Given the description of an element on the screen output the (x, y) to click on. 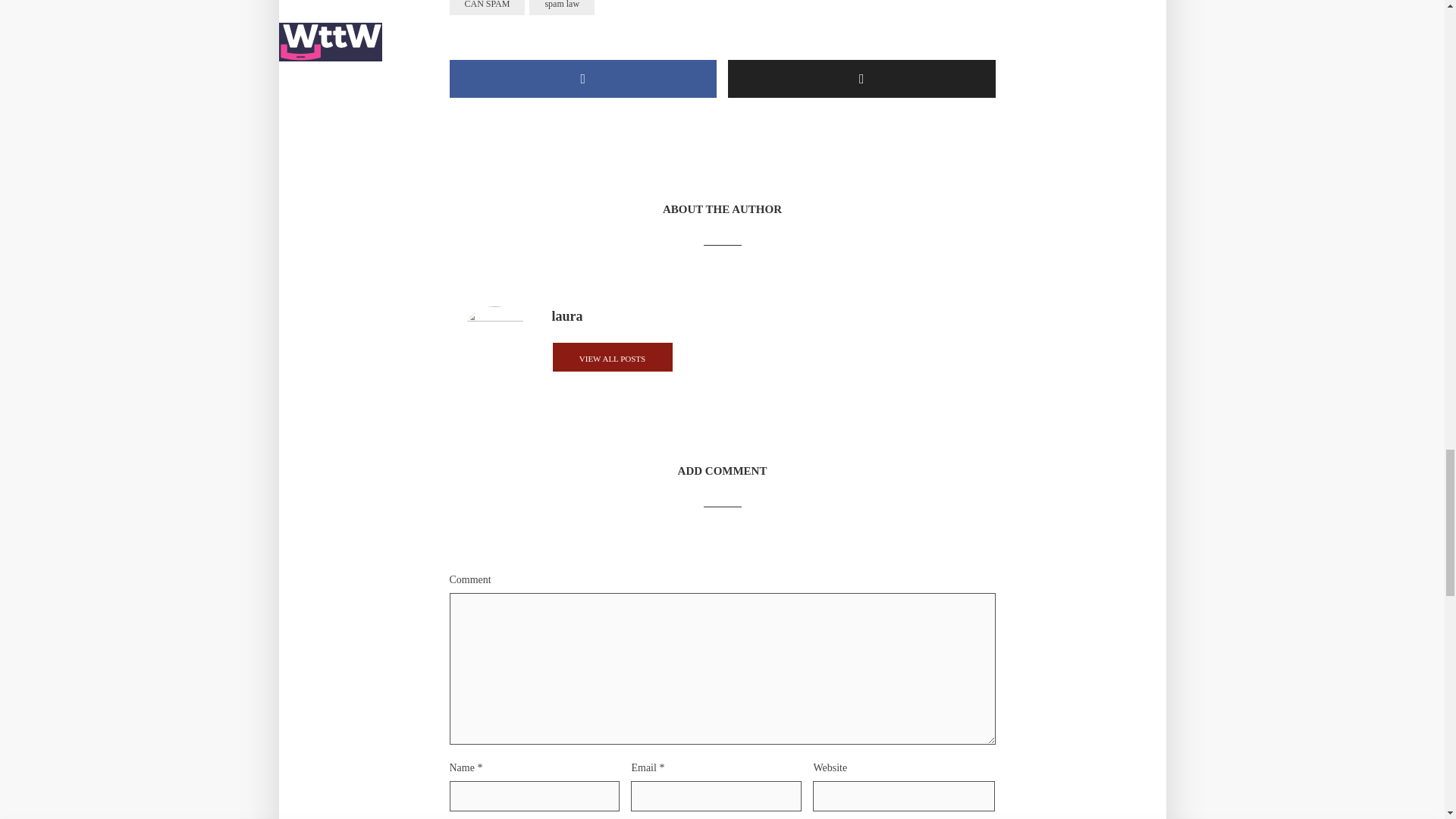
VIEW ALL POSTS (611, 356)
CAN SPAM (486, 7)
spam law (561, 7)
